Given the description of an element on the screen output the (x, y) to click on. 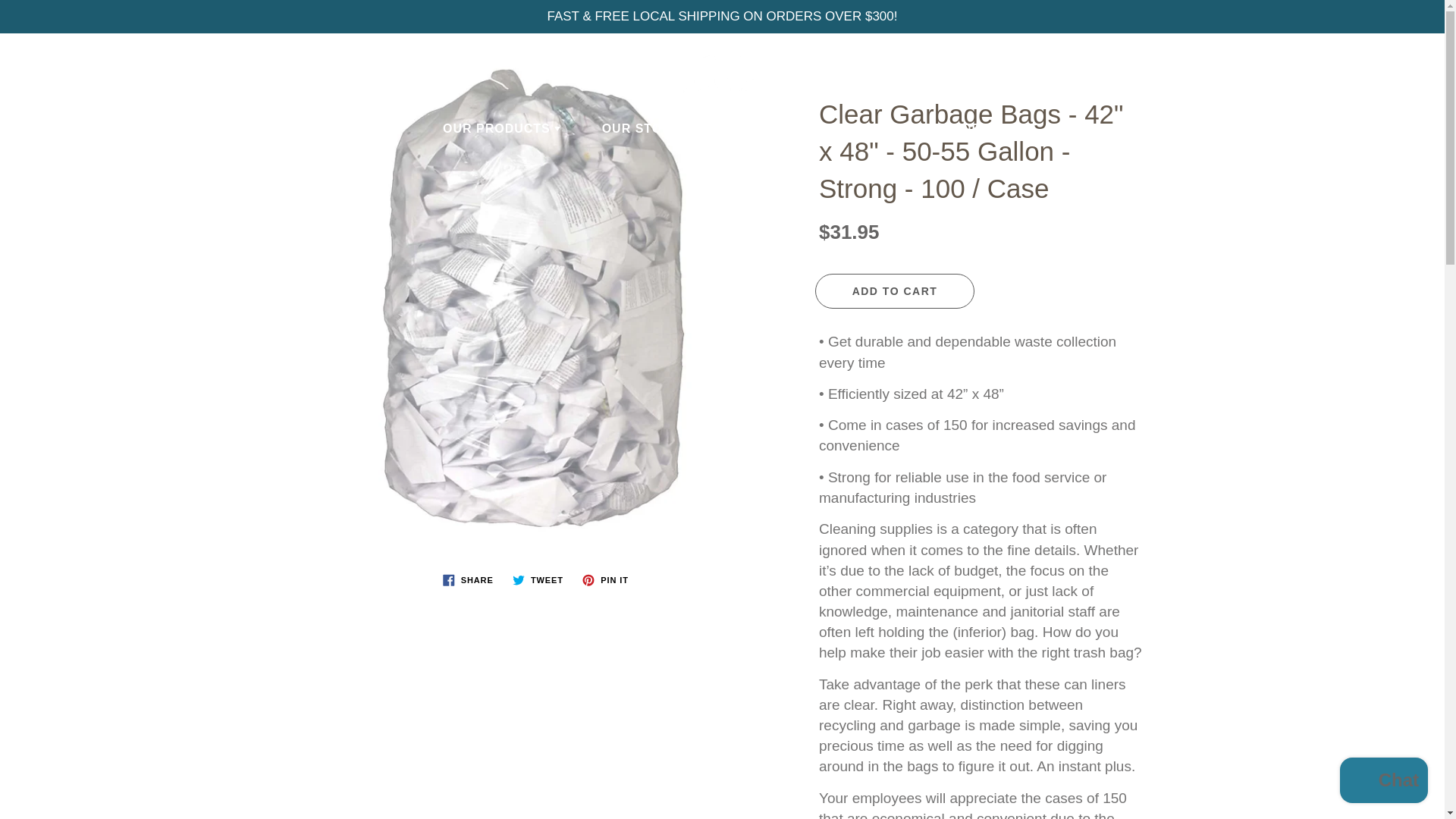
Tweet on Twitter (537, 579)
You have 0 items in your cart (1417, 59)
Shopify online store chat (1383, 781)
Search (28, 59)
Share on Facebook (467, 579)
My account (1379, 59)
Pin on Pinterest (604, 579)
OUR PRODUCTS (501, 128)
